Given the description of an element on the screen output the (x, y) to click on. 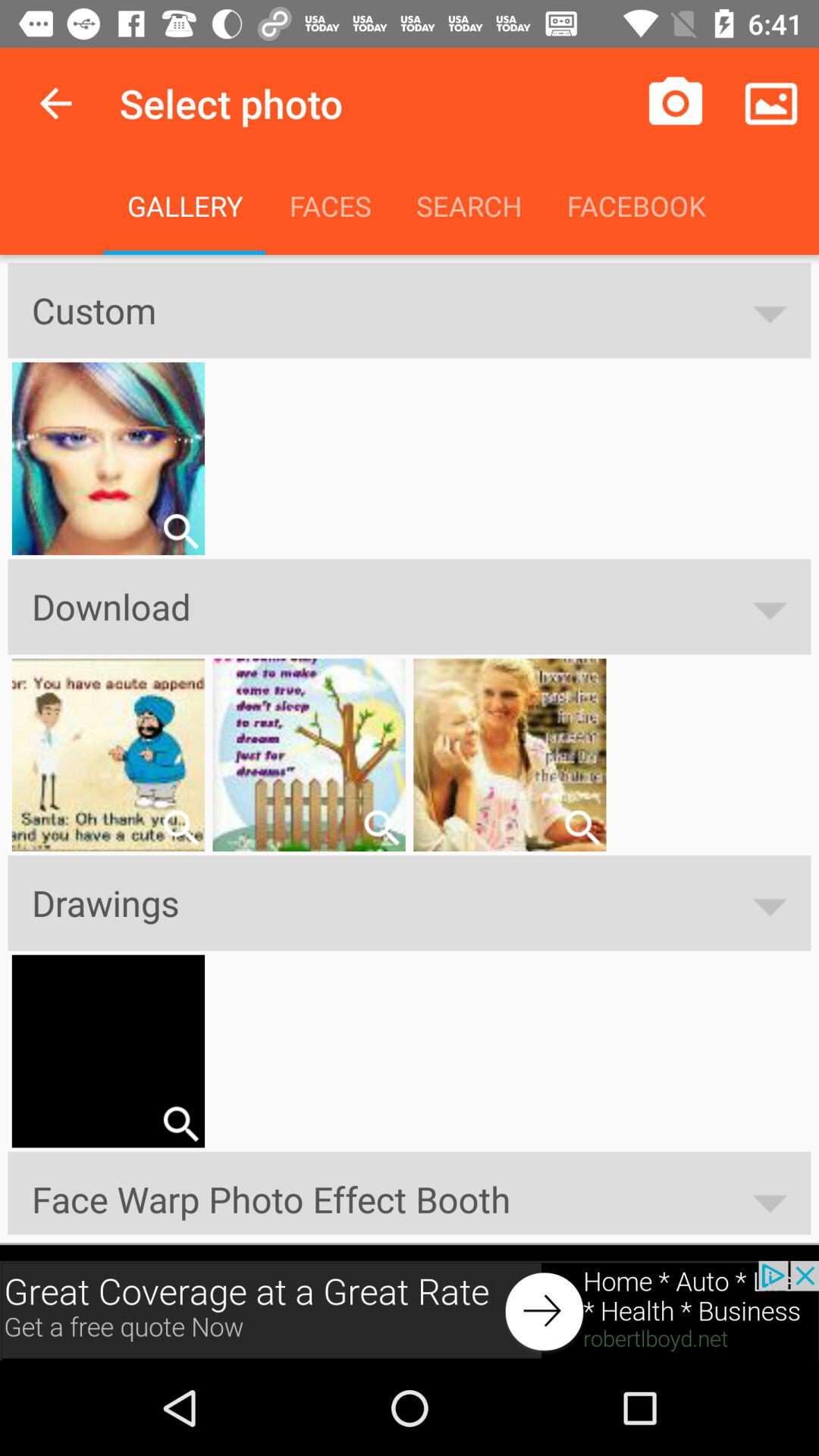
searching the file given (180, 1123)
